Given the description of an element on the screen output the (x, y) to click on. 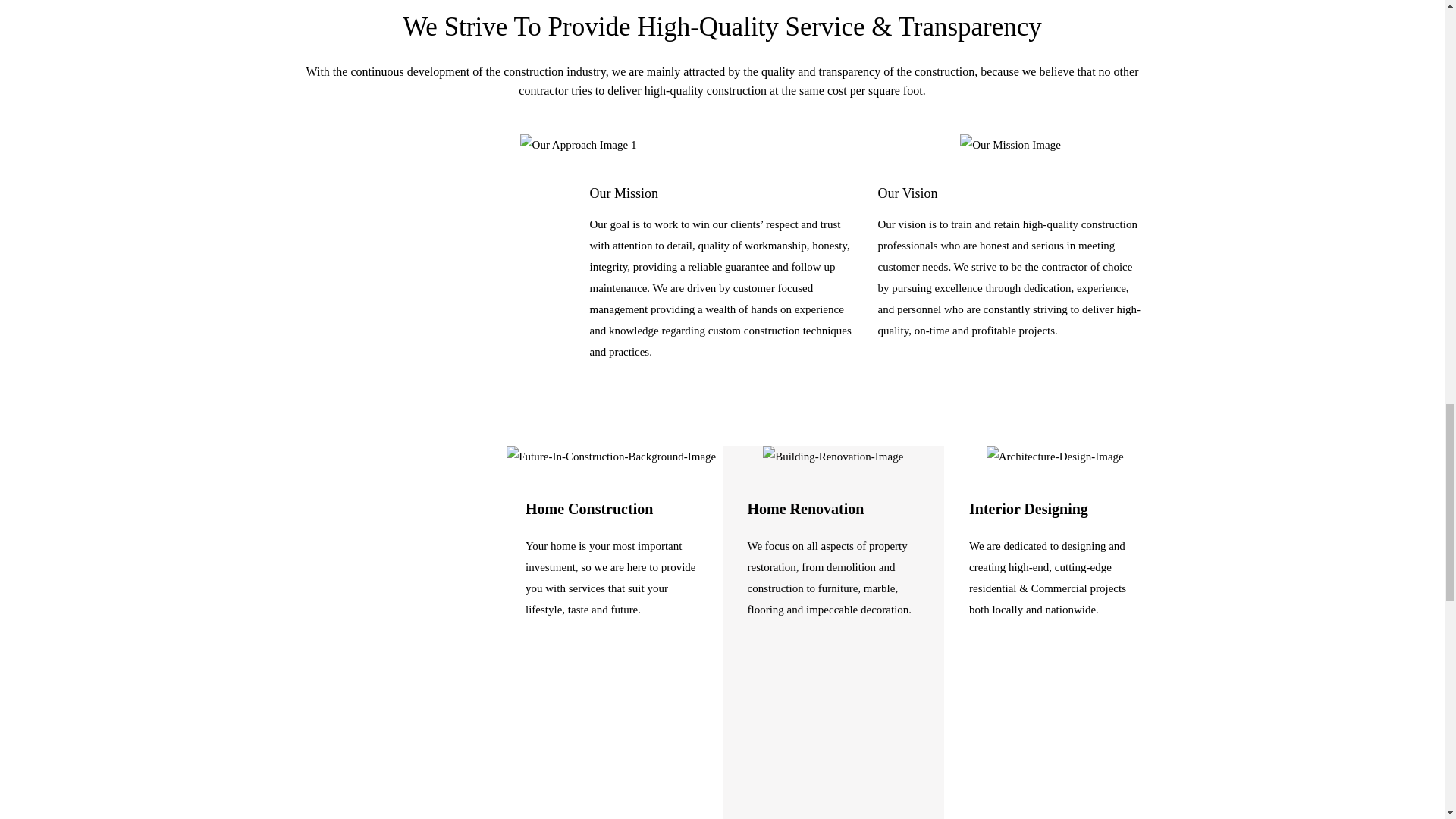
Home Construction (588, 508)
Interior Designing (1028, 508)
Company Overview 2 (578, 144)
Home Renovation (806, 508)
Company Overview 3 (1010, 144)
Company Overview 6 (1055, 455)
Company Overview 4 (611, 455)
Company Overview 5 (832, 455)
